Given the description of an element on the screen output the (x, y) to click on. 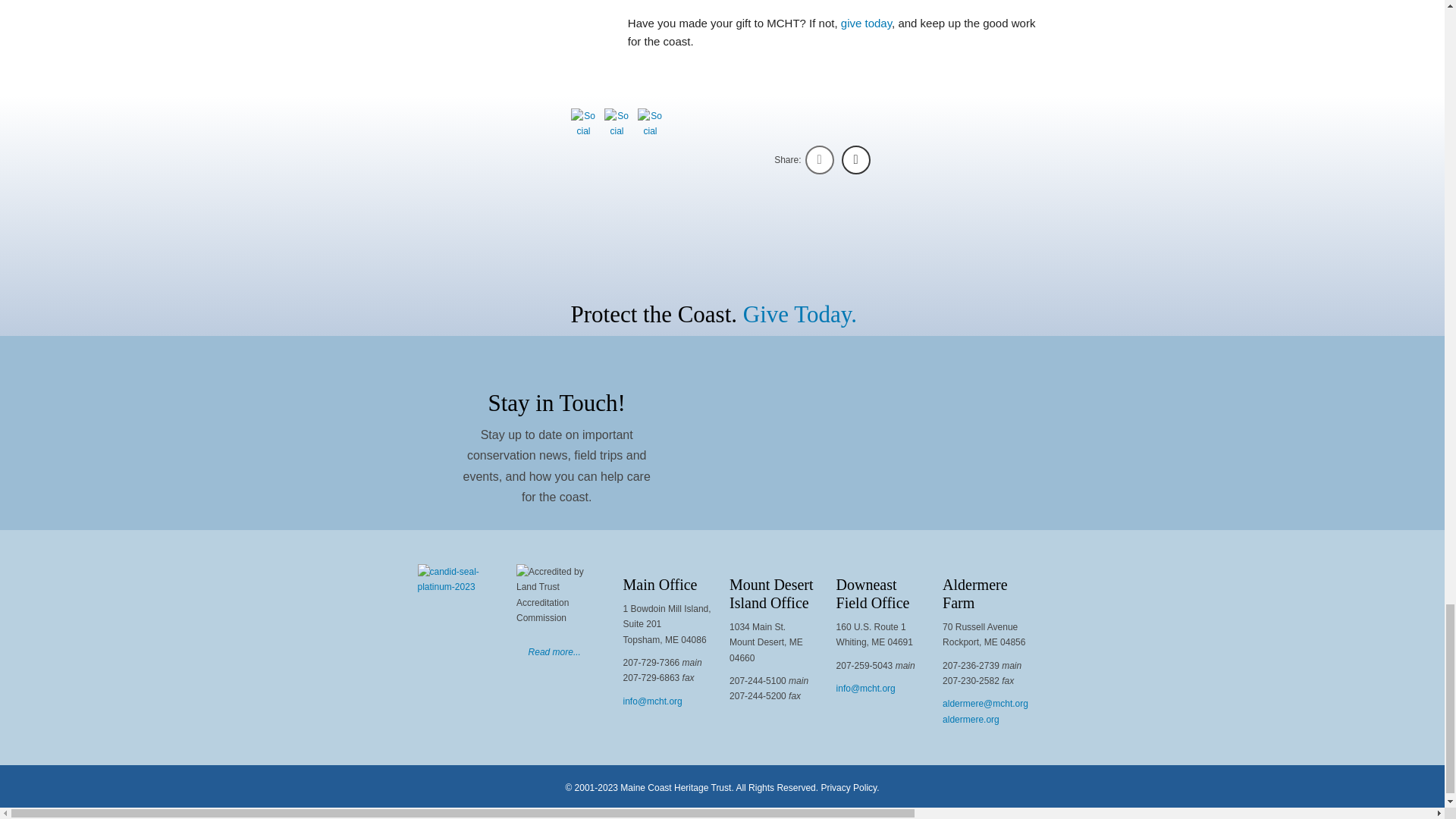
Give Today. (799, 314)
give today (866, 22)
Read more... (554, 652)
